Given the description of an element on the screen output the (x, y) to click on. 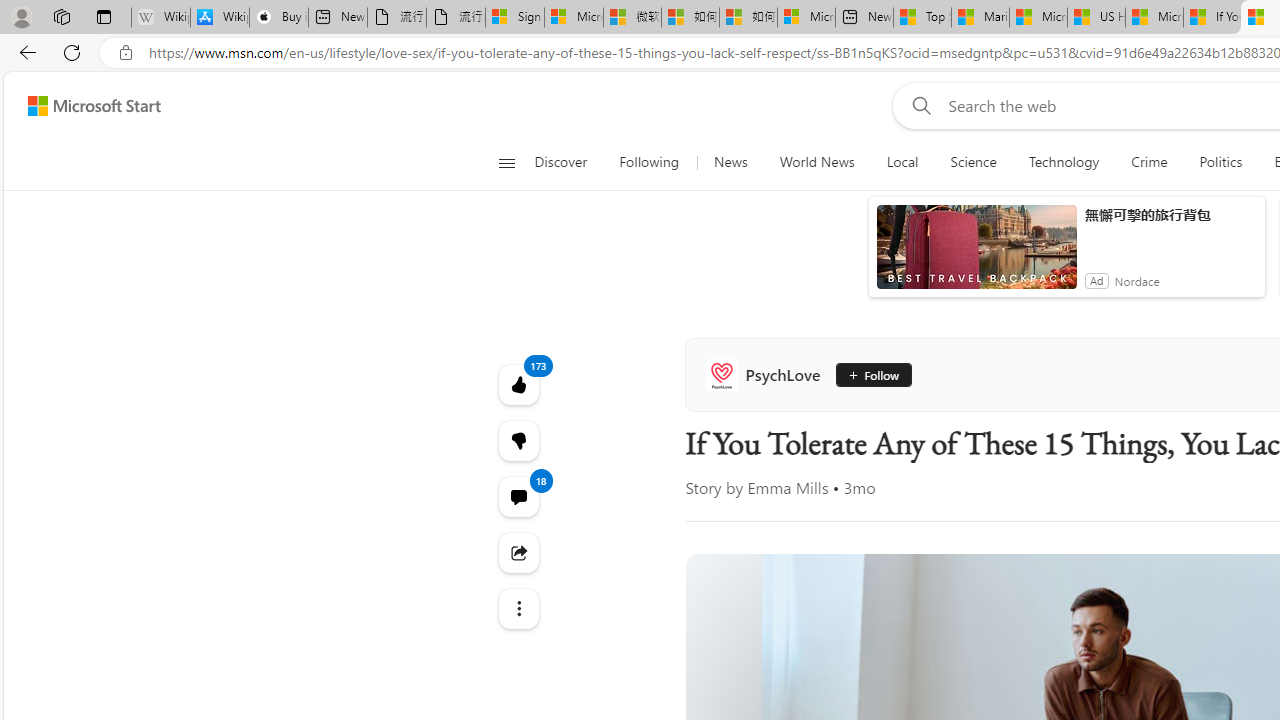
Marine life - MSN (980, 17)
Microsoft Services Agreement (573, 17)
Follow (872, 374)
Sign in to your Microsoft account (514, 17)
Crime (1149, 162)
Crime (1149, 162)
Technology (1063, 162)
Politics (1220, 162)
